Given the description of an element on the screen output the (x, y) to click on. 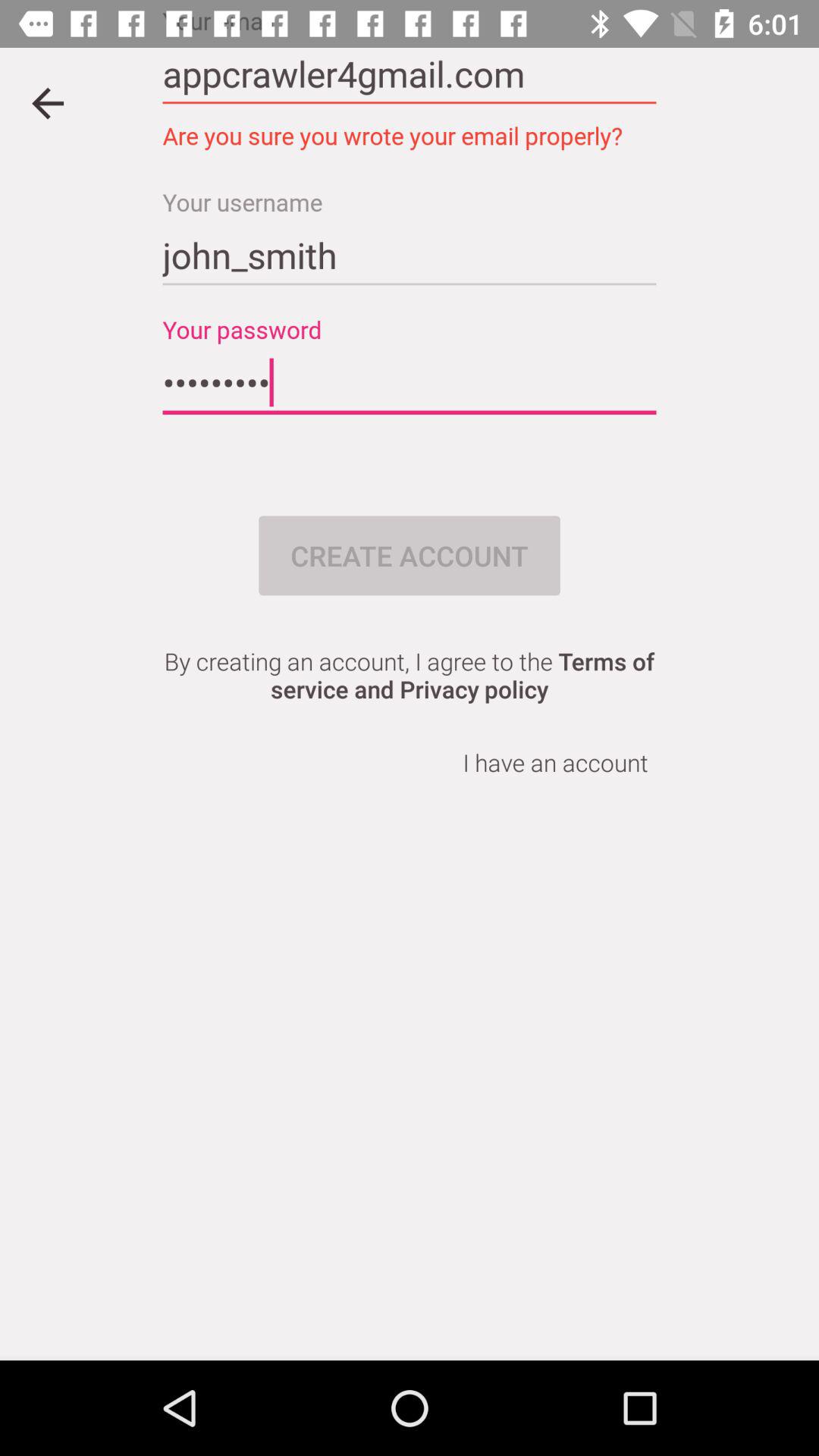
go back (47, 103)
